Given the description of an element on the screen output the (x, y) to click on. 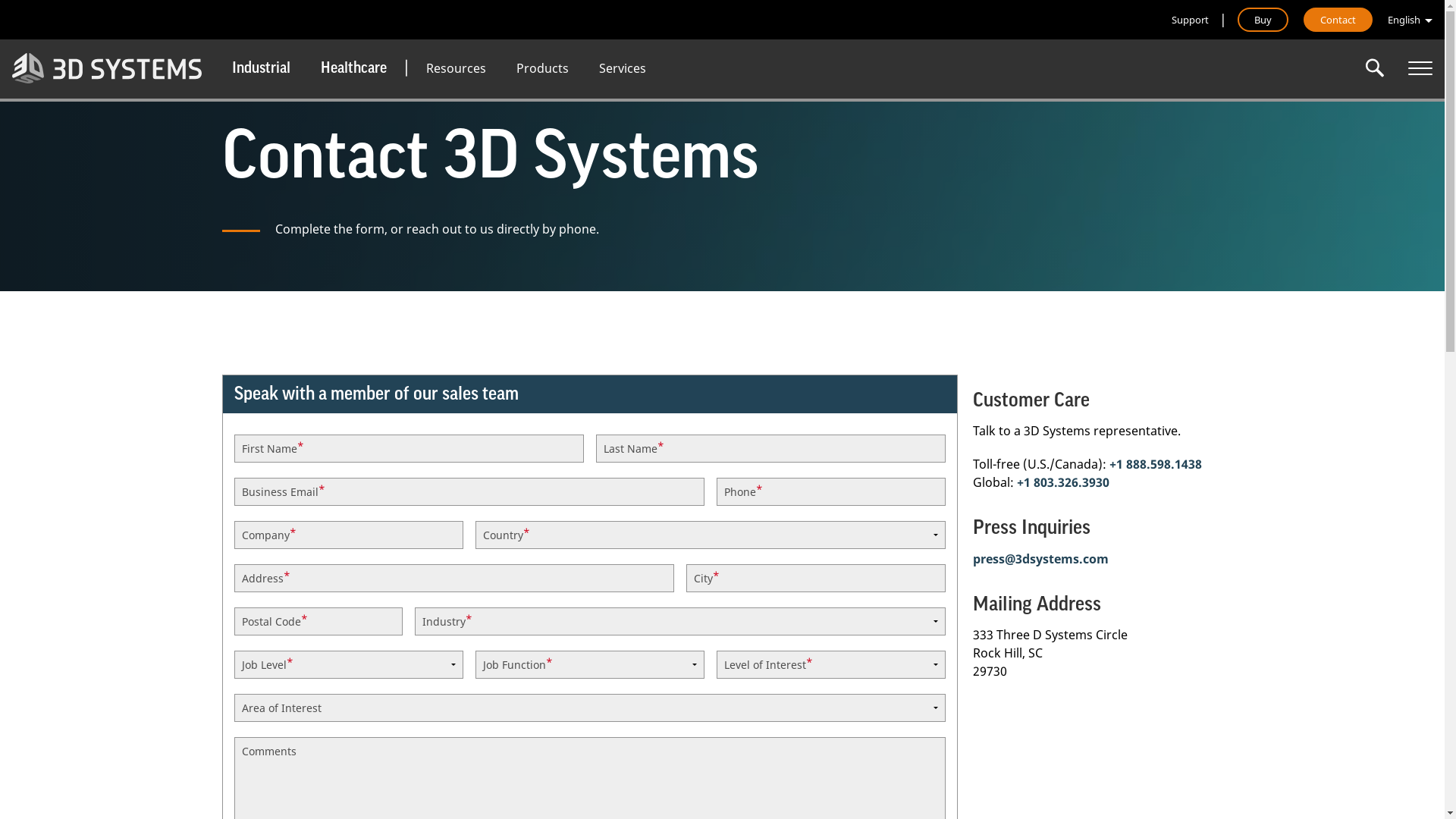
+1 803.326.3930 Element type: text (1062, 481)
Healthcare Element type: text (353, 67)
Skip to main content Element type: text (0, 0)
English Element type: text (1409, 20)
Contact Element type: text (1337, 19)
Services Element type: text (622, 67)
Products Element type: text (542, 67)
Buy Element type: text (1262, 19)
Resources Element type: text (456, 67)
+1 888.598.1438 Element type: text (1154, 463)
Enter the terms you wish to search for. Element type: hover (1374, 67)
All 3D Systems Element type: text (1420, 68)
press@3dsystems.com Element type: text (1039, 558)
Support Element type: text (1189, 19)
Search Element type: text (1374, 67)
Industrial Element type: text (260, 67)
